Given the description of an element on the screen output the (x, y) to click on. 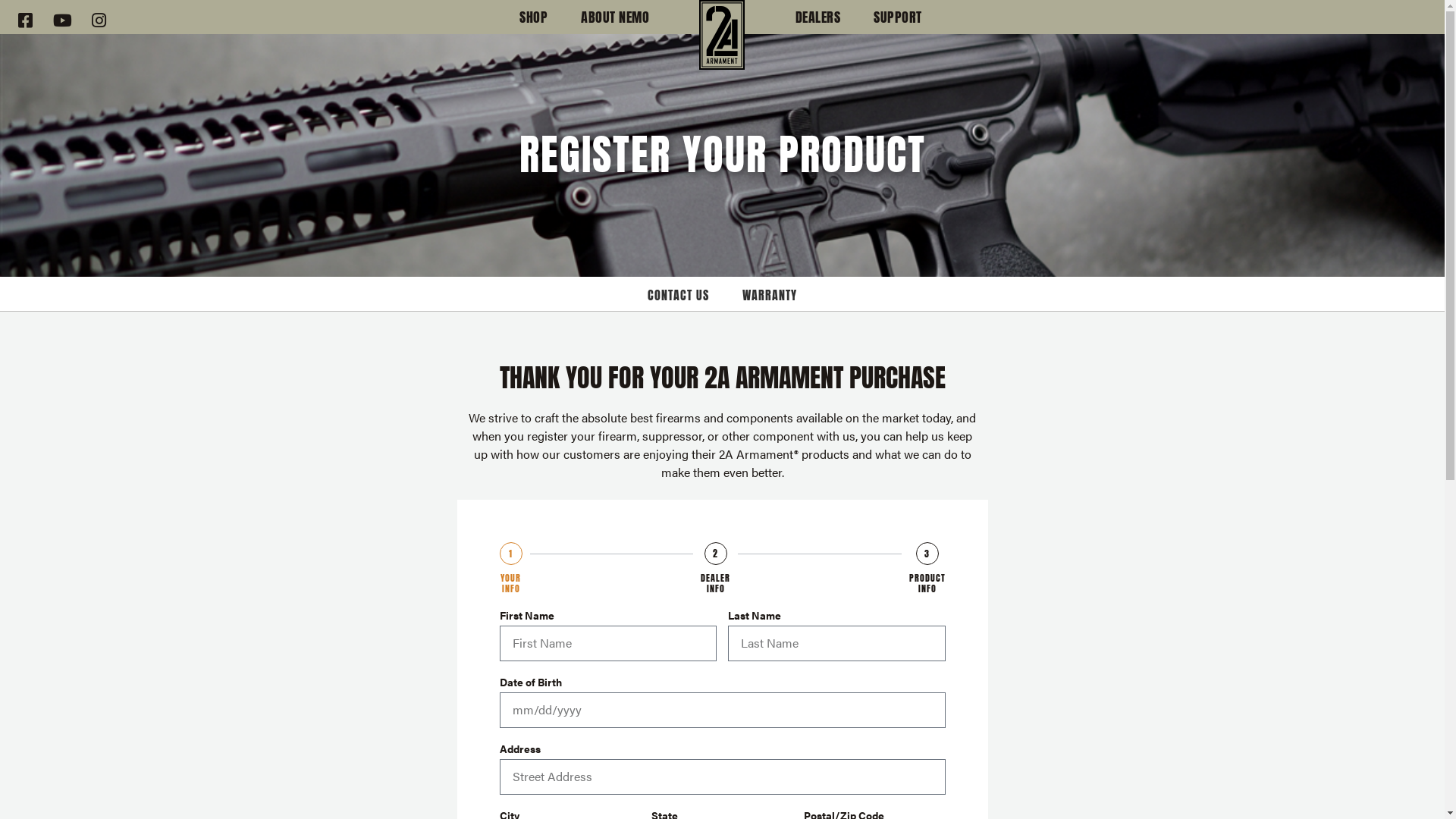
ABOUT NEMO Element type: text (614, 17)
DEALERS Element type: text (818, 17)
CONTACT US Element type: text (678, 295)
SUPPORT Element type: text (897, 17)
WARRANTY Element type: text (769, 295)
SHOP Element type: text (533, 17)
